Given the description of an element on the screen output the (x, y) to click on. 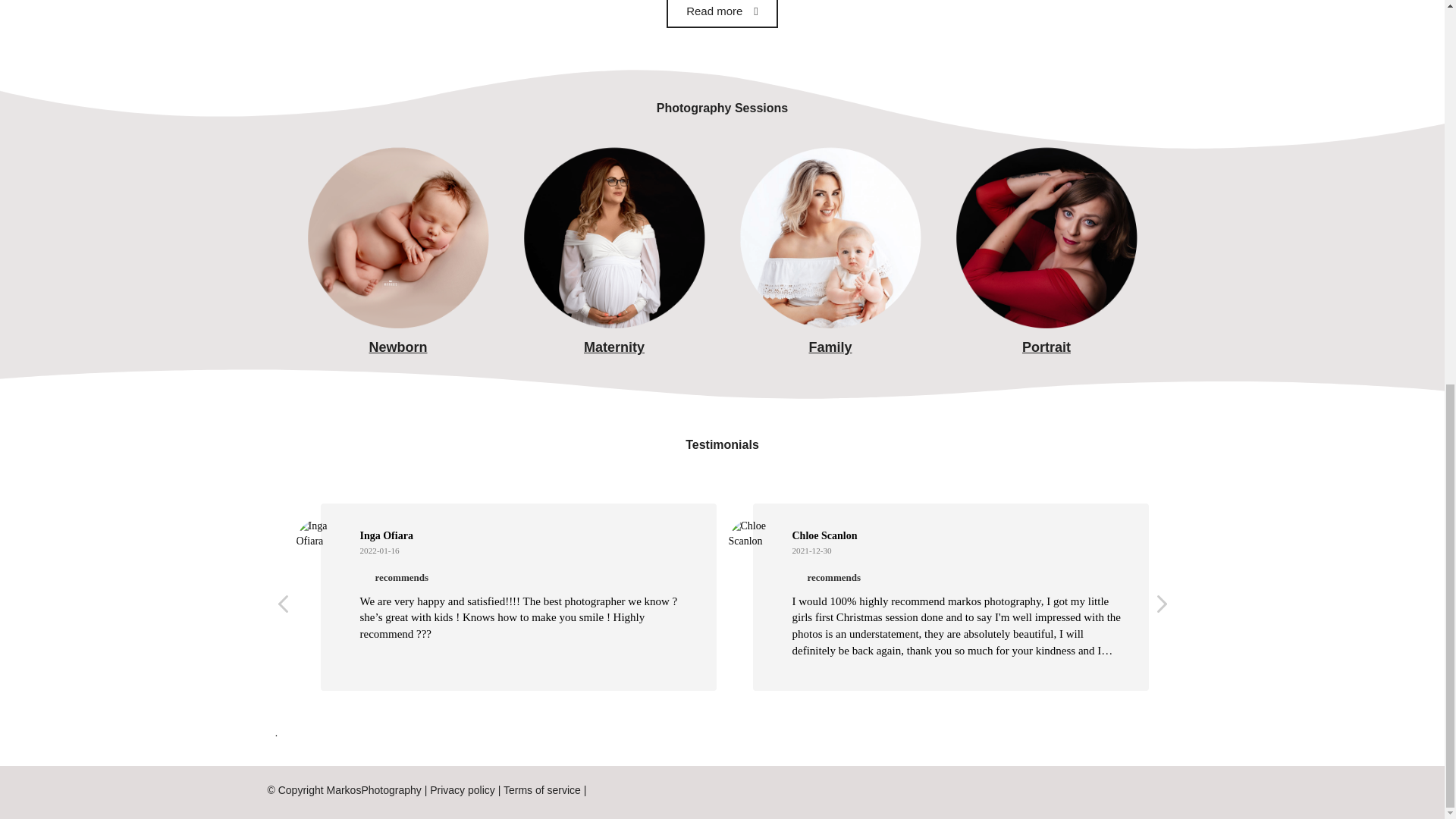
Newborn (397, 346)
Portrait (1046, 346)
Privacy policy (462, 789)
Maternity (614, 346)
Family (829, 346)
Terms of service (541, 789)
Read more (721, 13)
